Given the description of an element on the screen output the (x, y) to click on. 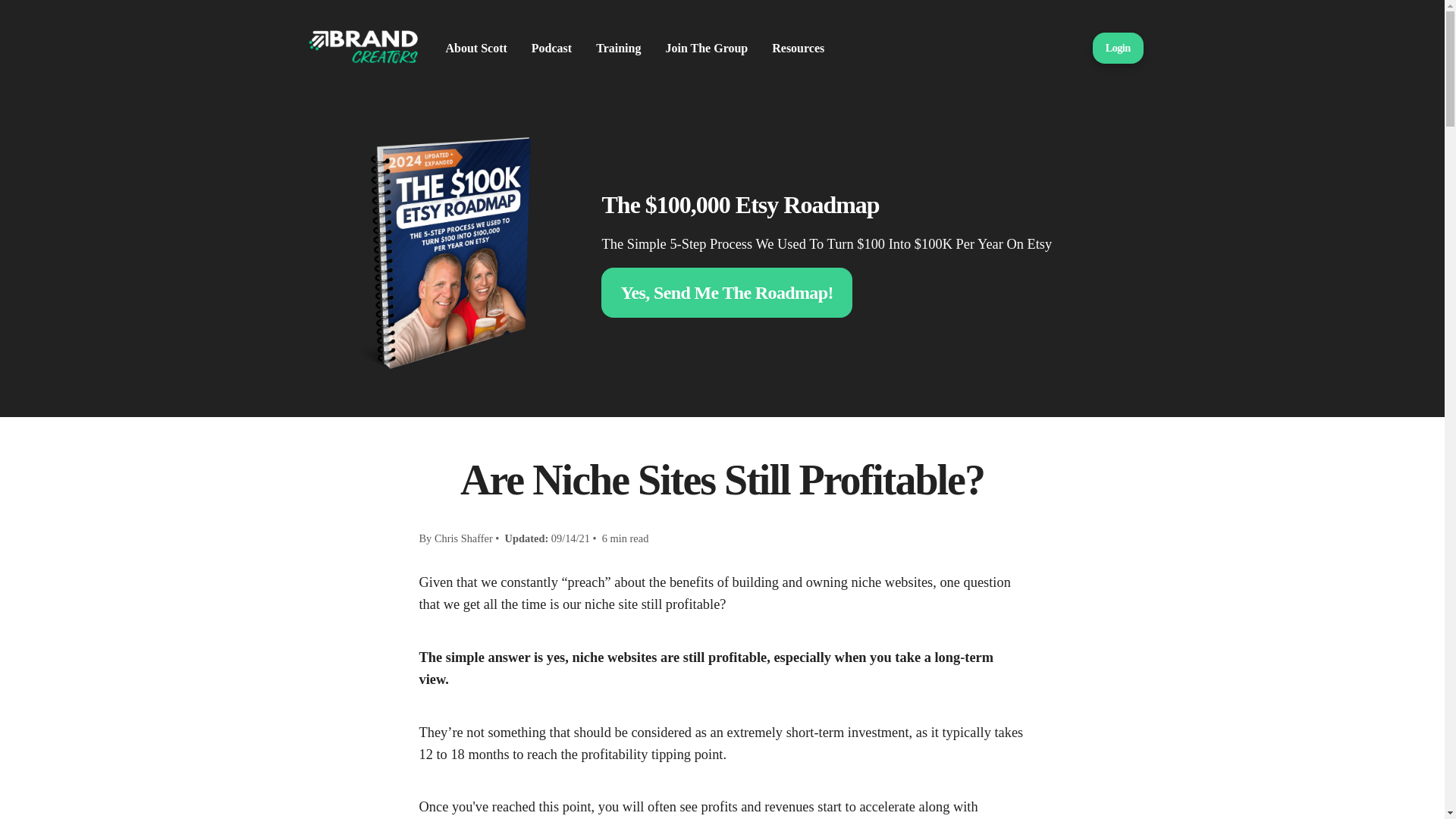
Yes, Send Me The Roadmap! (726, 292)
About Scott (475, 48)
Training (617, 48)
Podcast (551, 48)
Resources (797, 48)
Join The Group (706, 48)
Login (1117, 47)
